Given the description of an element on the screen output the (x, y) to click on. 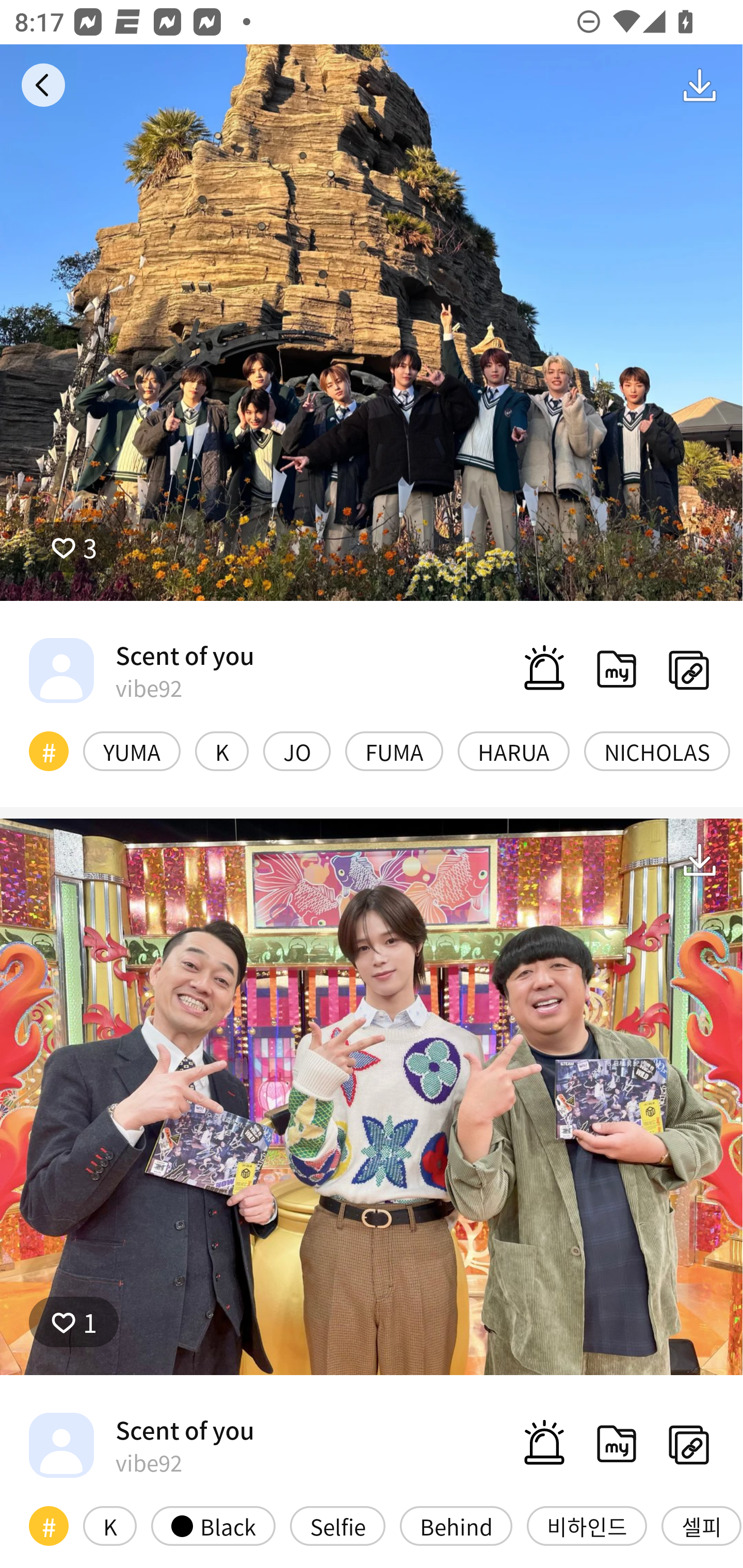
3 (371, 322)
3 (73, 547)
Scent of you vibe92 (141, 670)
YUMA (131, 750)
K (221, 750)
JO (296, 750)
FUMA (394, 750)
HARUA (513, 750)
NICHOLAS (656, 750)
1 (371, 1096)
1 (73, 1321)
Scent of you vibe92 (141, 1444)
K (109, 1526)
Black (212, 1526)
Selfie (337, 1526)
Behind (455, 1526)
비하인드 (586, 1526)
셀피 (701, 1526)
